Given the description of an element on the screen output the (x, y) to click on. 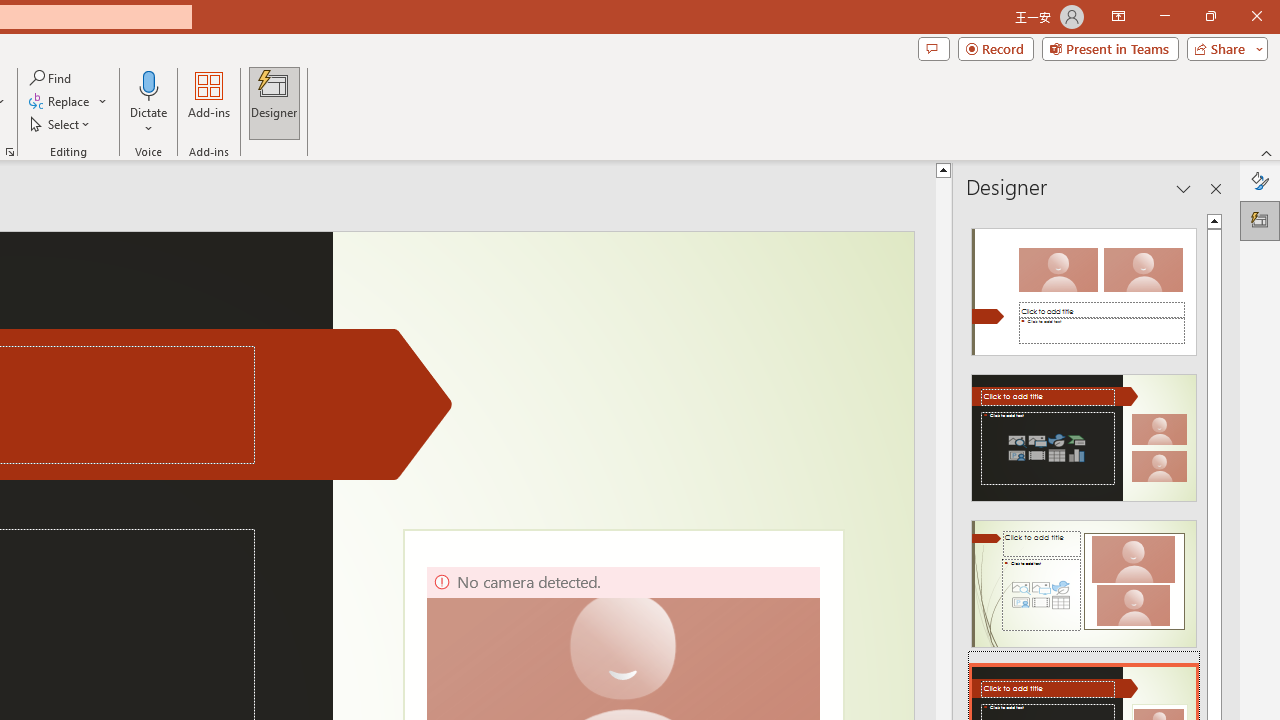
Recommended Design: Design Idea (1083, 286)
Format Background (1260, 180)
Replace... (68, 101)
Close pane (1215, 188)
Select (61, 124)
Designer (274, 102)
Replace... (60, 101)
Designer (1260, 220)
